Given the description of an element on the screen output the (x, y) to click on. 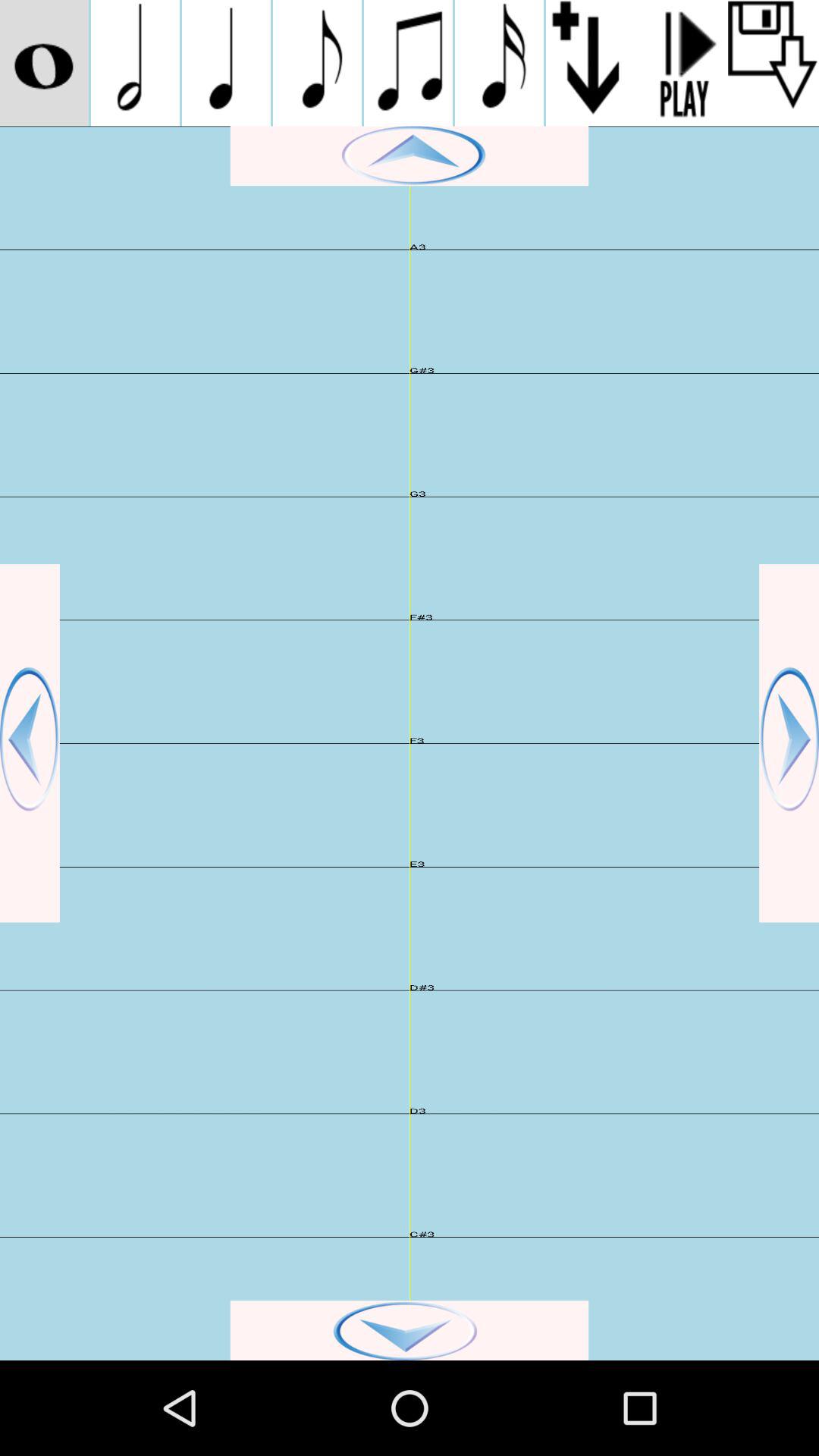
select note (135, 63)
